Given the description of an element on the screen output the (x, y) to click on. 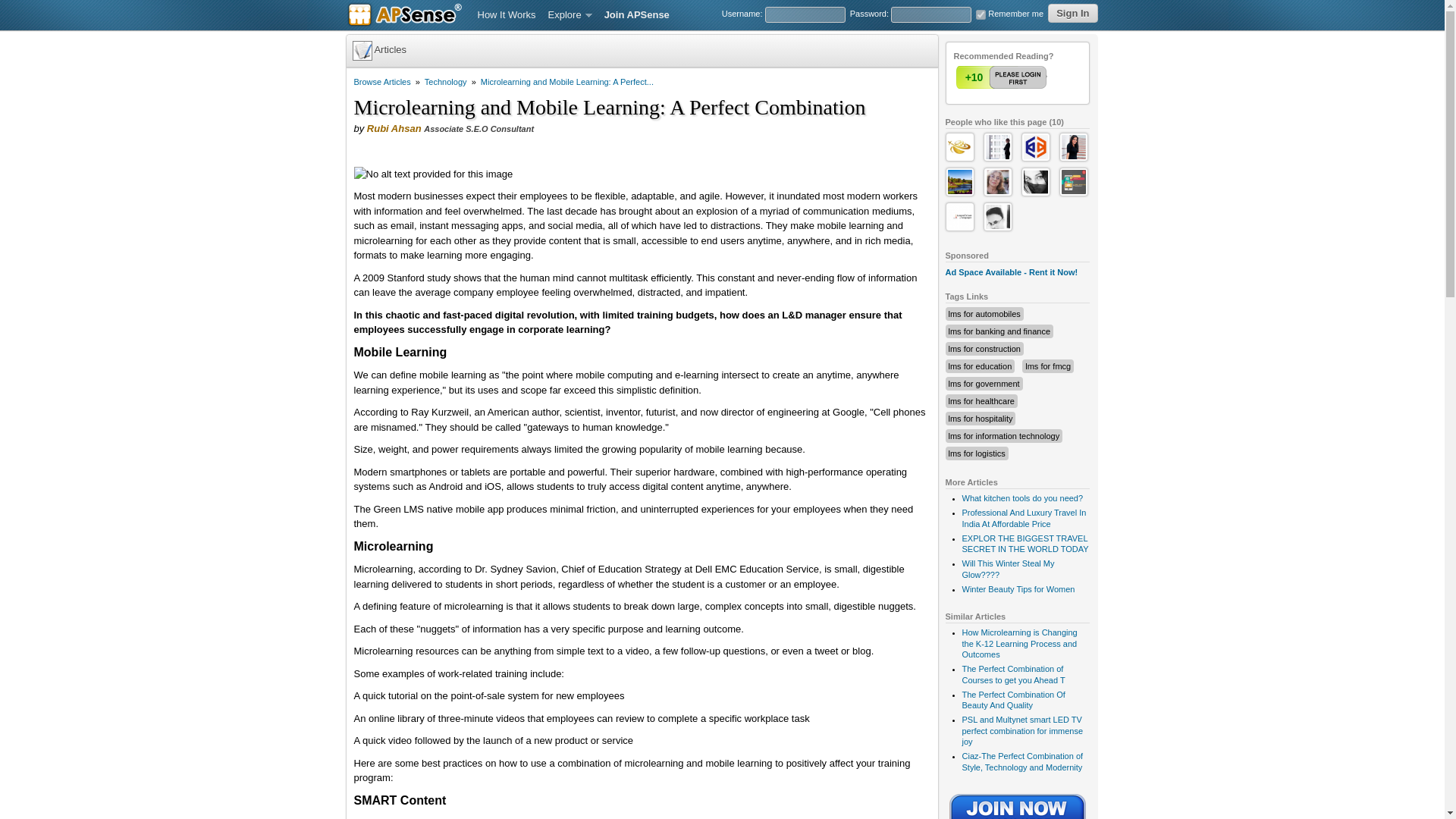
Votes Up (973, 77)
Explore (569, 15)
Technology (446, 81)
Browse Articles (381, 81)
Vote Down (1031, 77)
Vote Up (1002, 77)
1 (1002, 77)
Rubi Ahsan (394, 128)
How It Works (506, 15)
Sign In (1072, 13)
1 (980, 14)
Join APSense (636, 15)
Microlearning and Mobile Learning: A Perfect... (566, 81)
-1 (1031, 77)
